Given the description of an element on the screen output the (x, y) to click on. 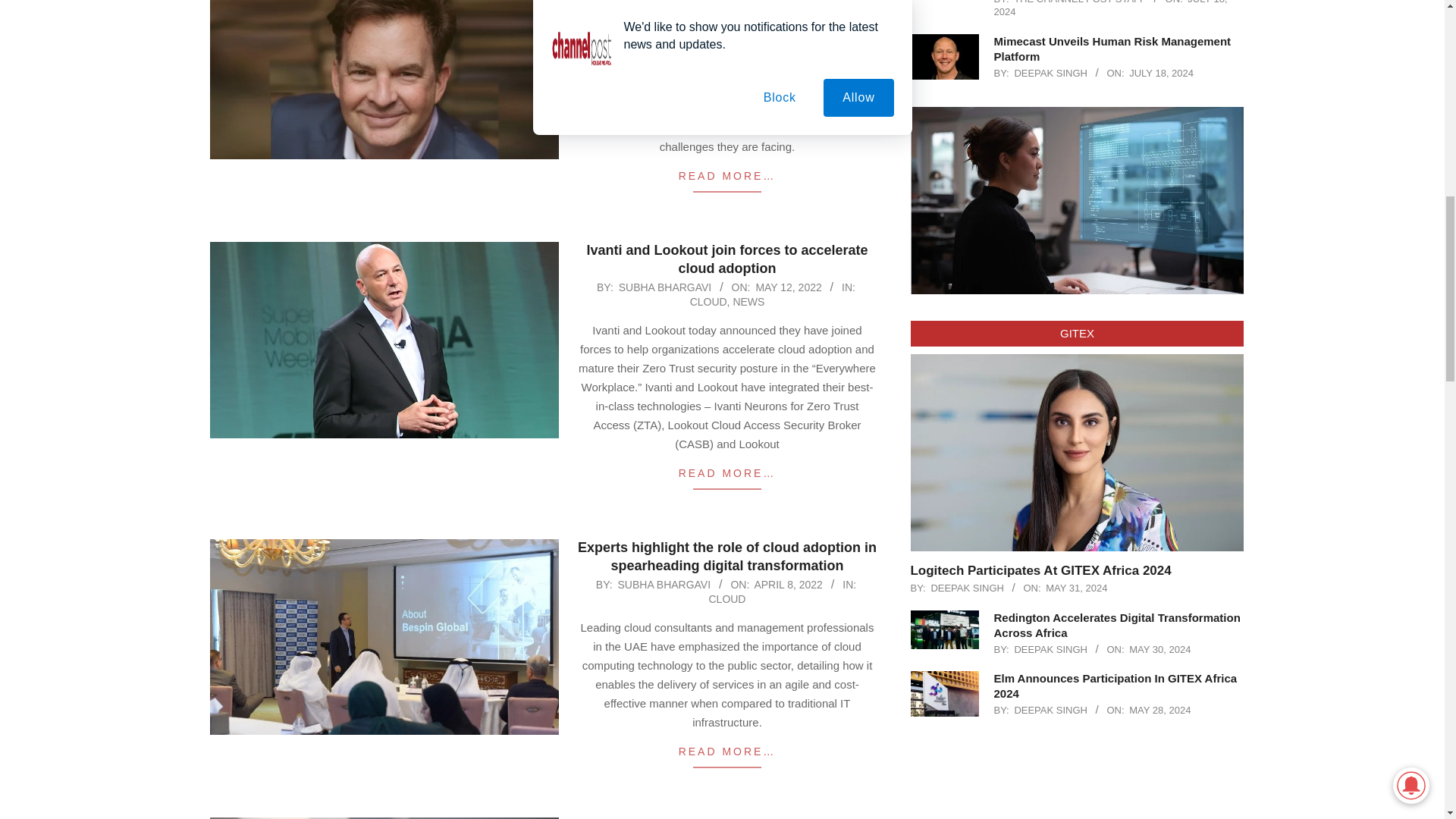
Posts by Subha Bhargavi (662, 9)
Friday, April 8, 2022, 9:33 am (788, 584)
Thursday, May 12, 2022, 10:27 am (788, 287)
Monday, June 13, 2022, 12:38 pm (788, 9)
Posts by Subha Bhargavi (664, 584)
Posts by Subha Bhargavi (664, 287)
